Given the description of an element on the screen output the (x, y) to click on. 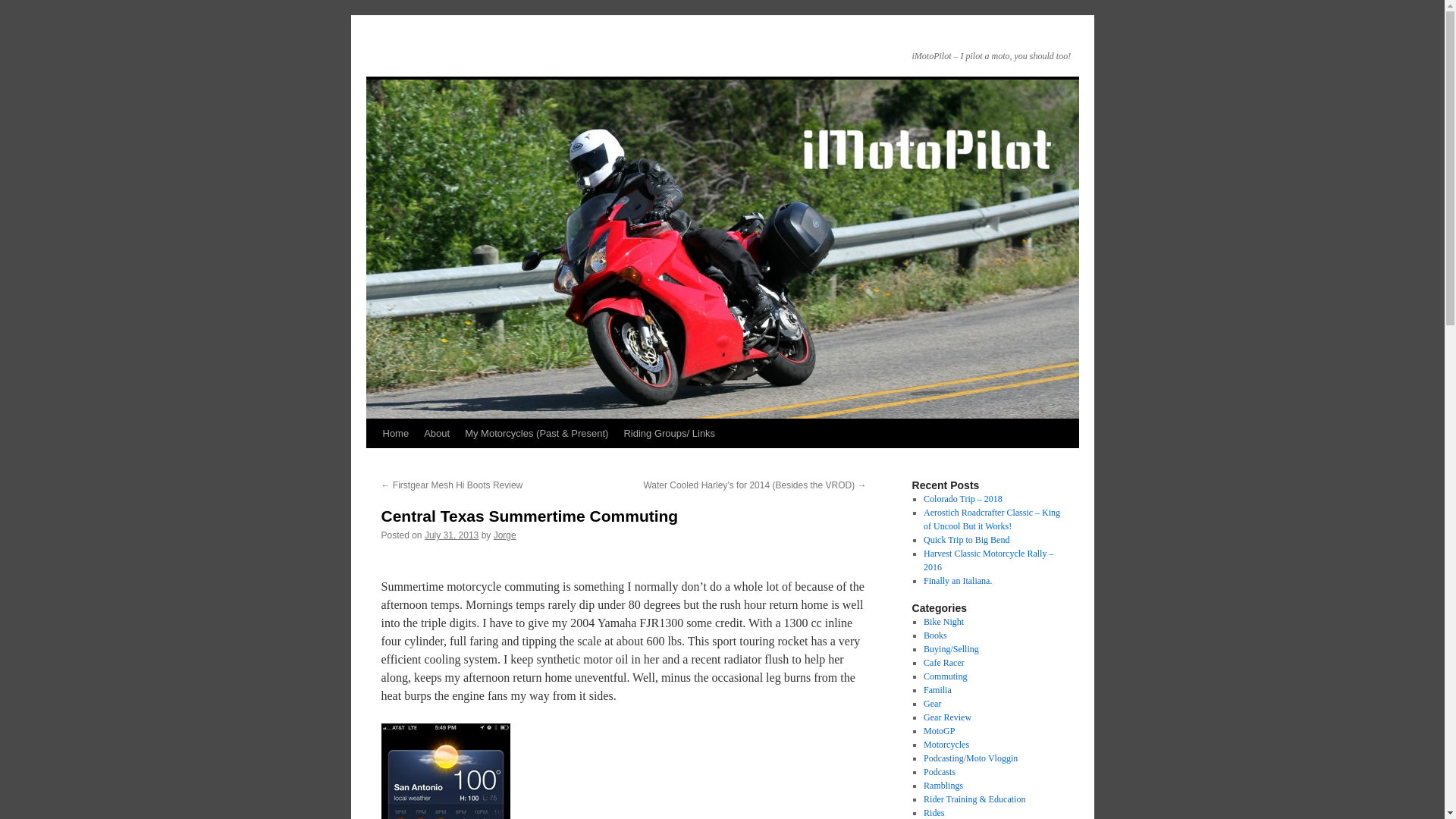
Jorge (504, 534)
Motorcycles (946, 744)
Familia (937, 689)
MotoGP (939, 730)
Cafe Racer (943, 662)
Podcasts (939, 771)
Commuting (944, 675)
Quick Trip to Big Bend (966, 539)
Finally an Italiana.  (958, 580)
Gear Review (947, 716)
